Given the description of an element on the screen output the (x, y) to click on. 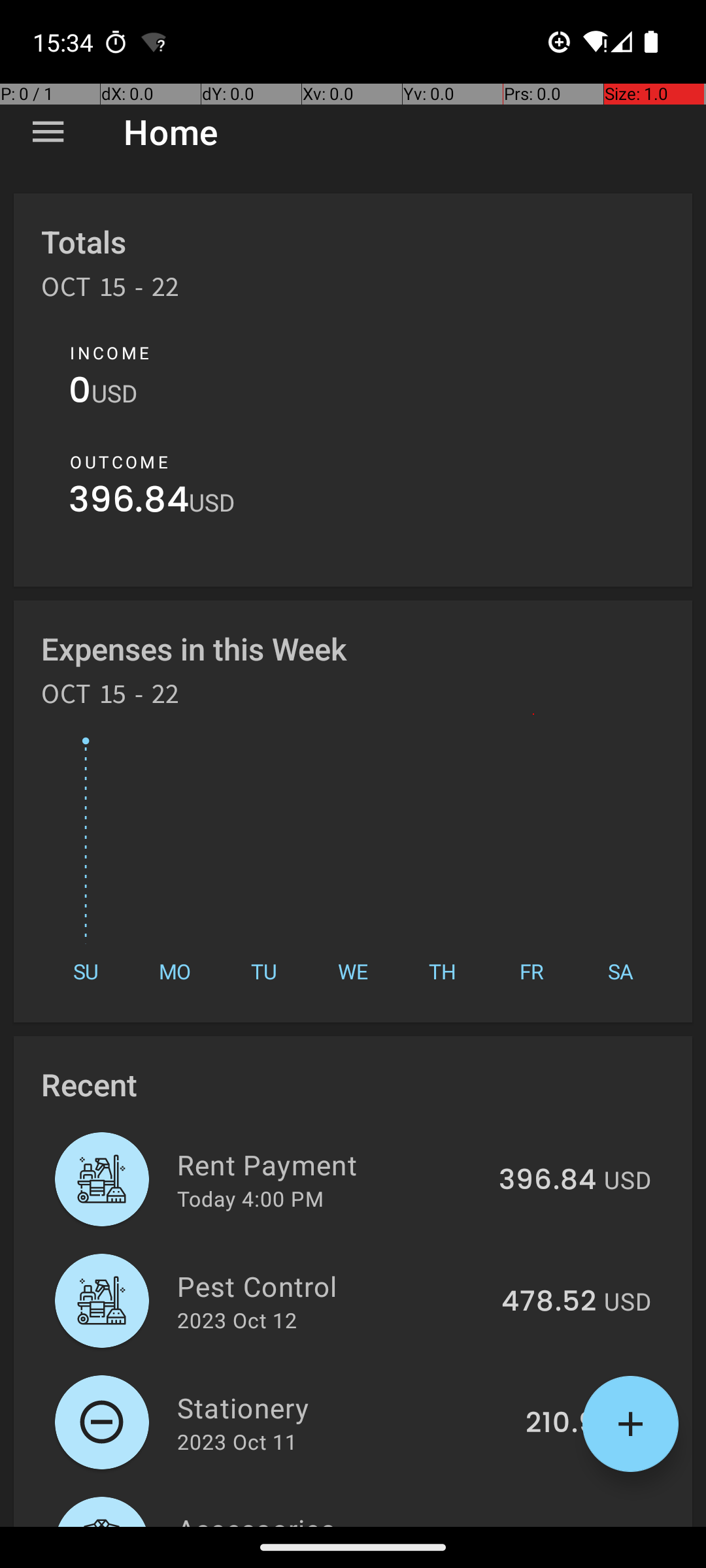
396.84 Element type: android.widget.TextView (128, 502)
Rent Payment Element type: android.widget.TextView (330, 1164)
Today 4:00 PM Element type: android.widget.TextView (250, 1198)
Pest Control Element type: android.widget.TextView (331, 1285)
478.52 Element type: android.widget.TextView (548, 1301)
210.9 Element type: android.widget.TextView (560, 1423)
Accessories Element type: android.widget.TextView (330, 1518)
496.02 Element type: android.widget.TextView (547, 1524)
